Given the description of an element on the screen output the (x, y) to click on. 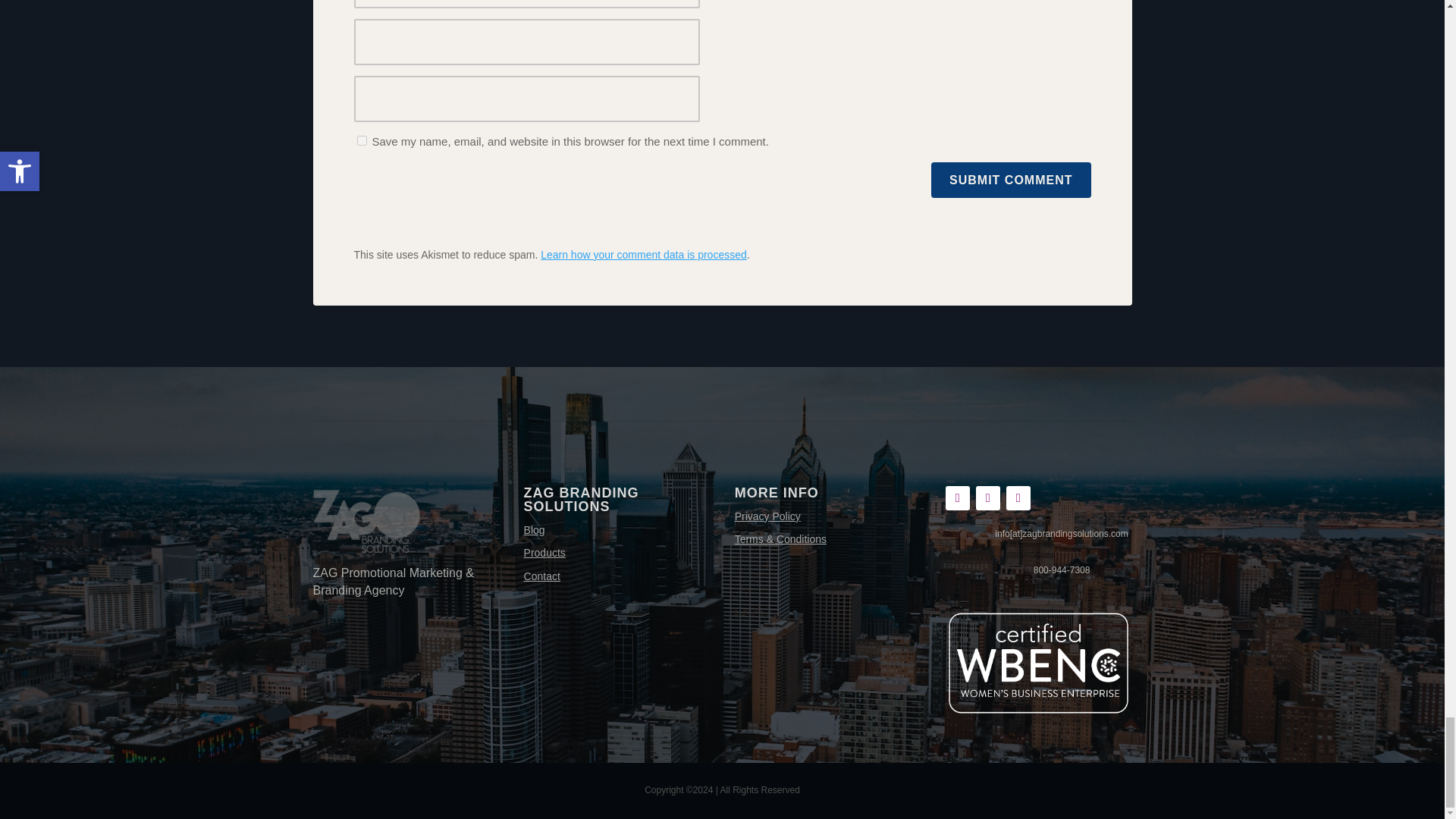
yes (361, 140)
Follow on Facebook (956, 498)
Follow on LinkedIn (1018, 498)
Follow on Instagram (987, 498)
